Given the description of an element on the screen output the (x, y) to click on. 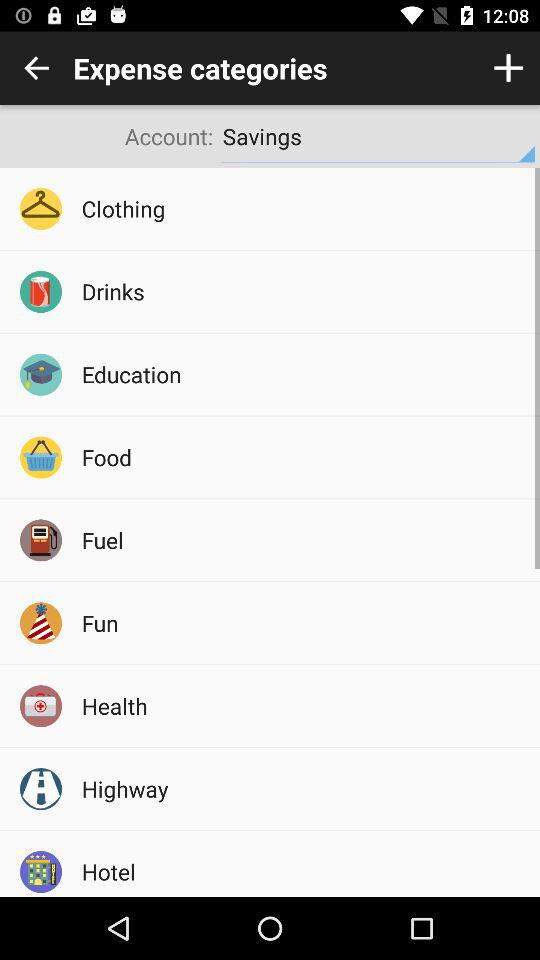
turn off the icon above the food item (303, 374)
